Given the description of an element on the screen output the (x, y) to click on. 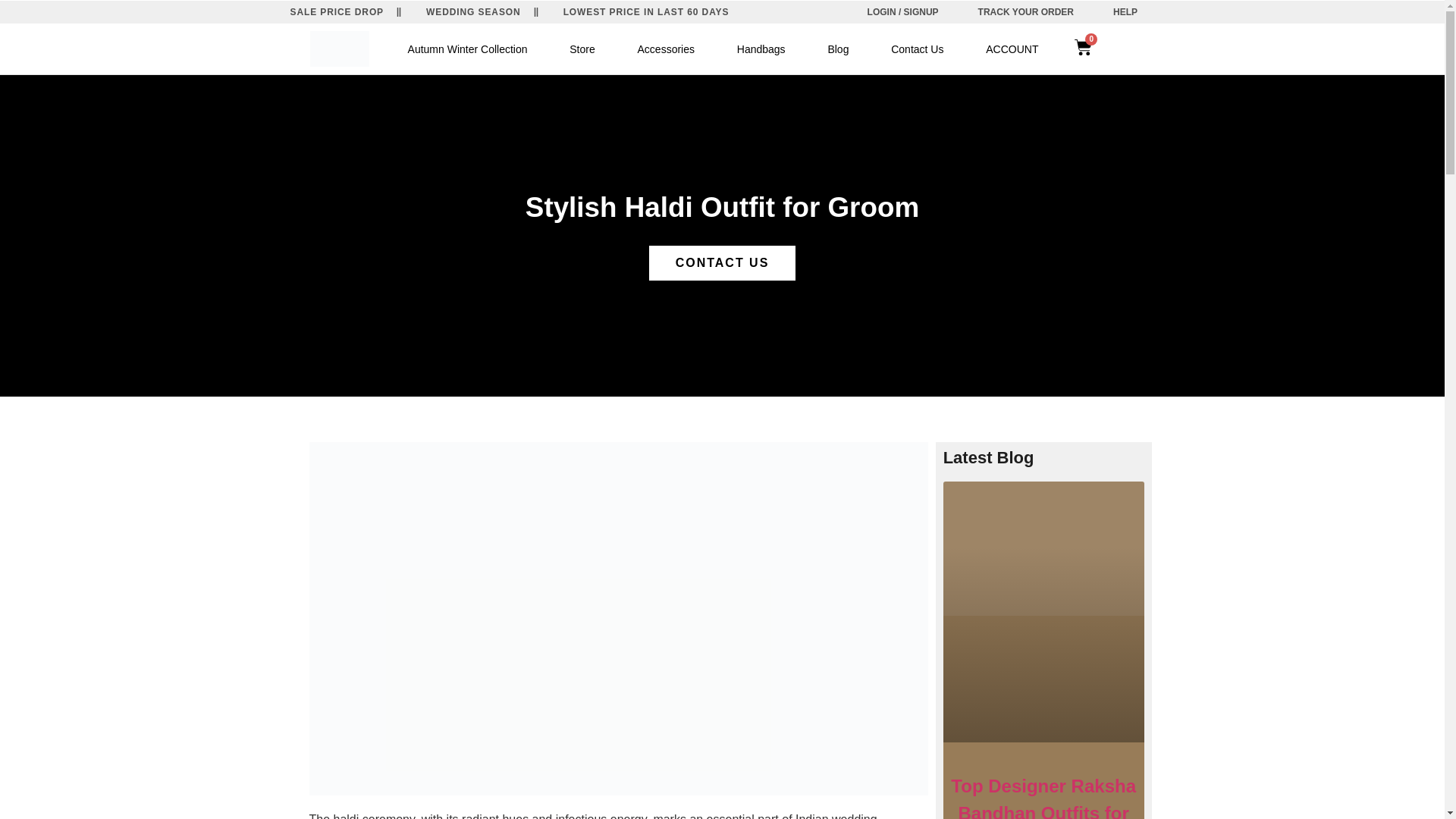
HELP (1125, 11)
Store (582, 49)
Accessories (665, 49)
TRACK YOUR ORDER (1025, 11)
Autumn Winter Collection (467, 49)
